Given the description of an element on the screen output the (x, y) to click on. 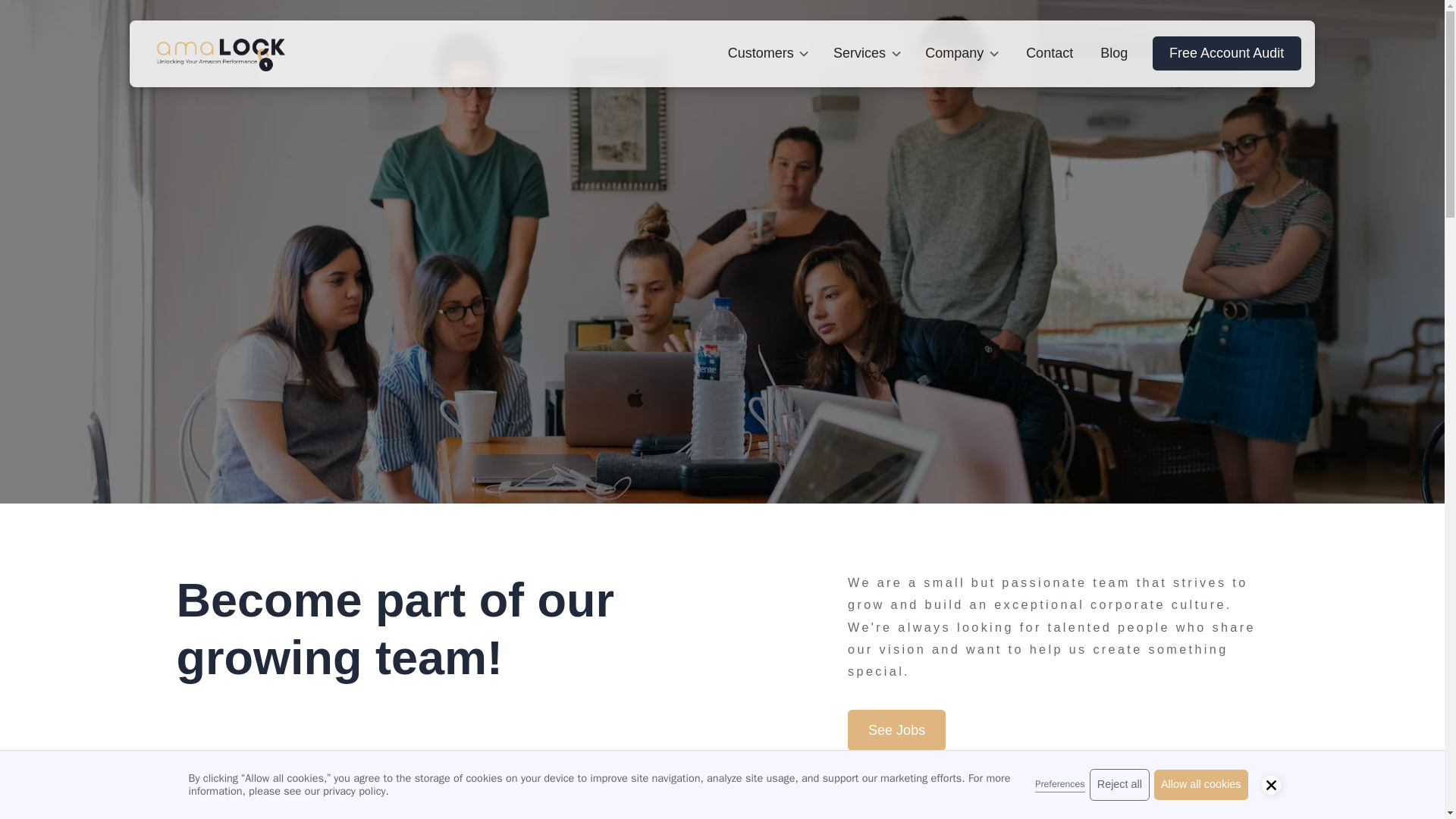
Allow all cookies (1200, 784)
See Jobs (895, 730)
Blog (1113, 53)
Reject all (1119, 784)
Preferences (1059, 784)
Contact (1048, 53)
Free Account Audit (1227, 53)
